Given the description of an element on the screen output the (x, y) to click on. 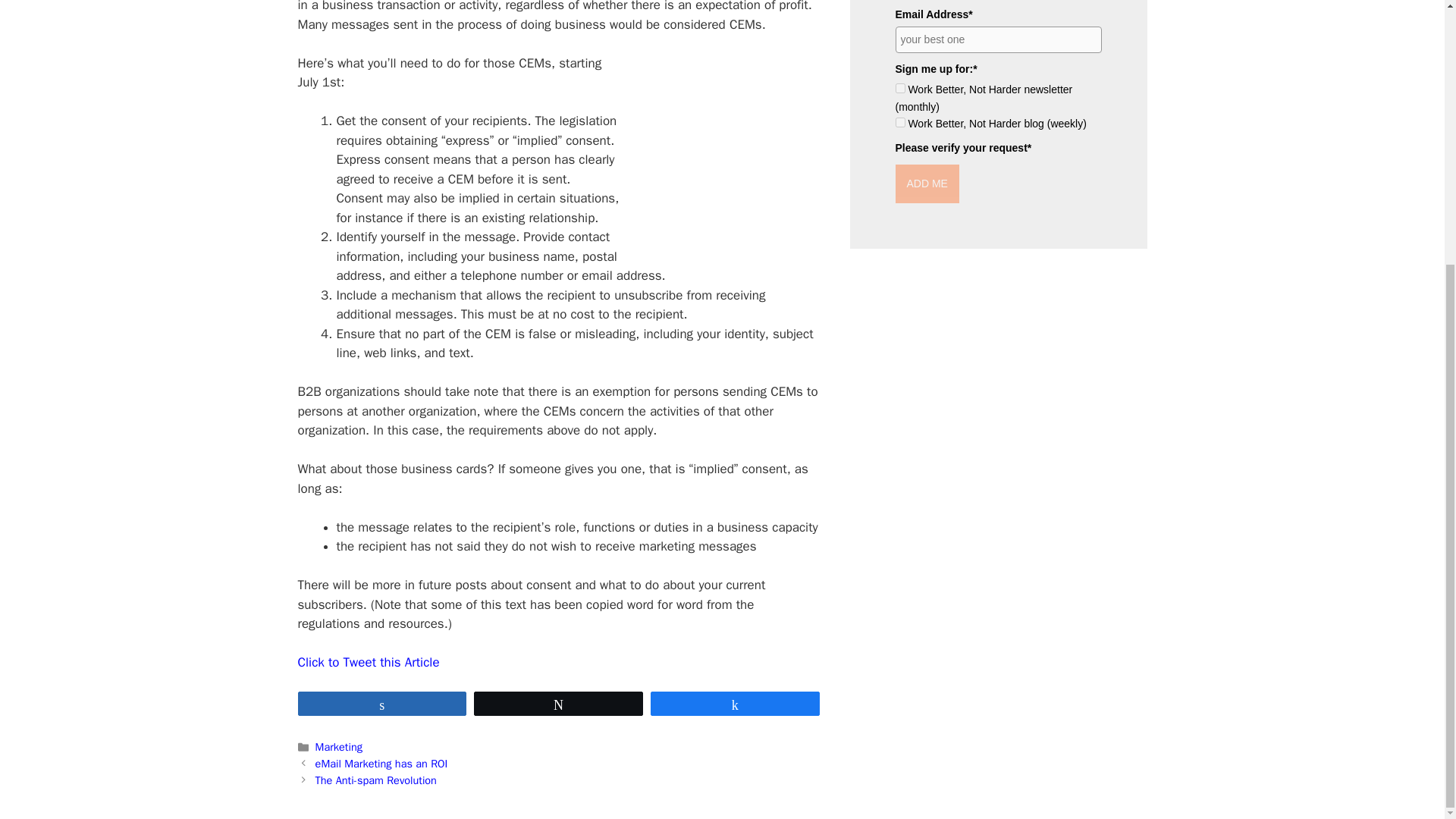
1 (899, 88)
Marketing (338, 746)
2 (899, 122)
The Anti-spam Revolution (375, 780)
Click to Tweet this Article (368, 662)
ADD ME (926, 183)
eMail Marketing has an ROI (381, 763)
